Given the description of an element on the screen output the (x, y) to click on. 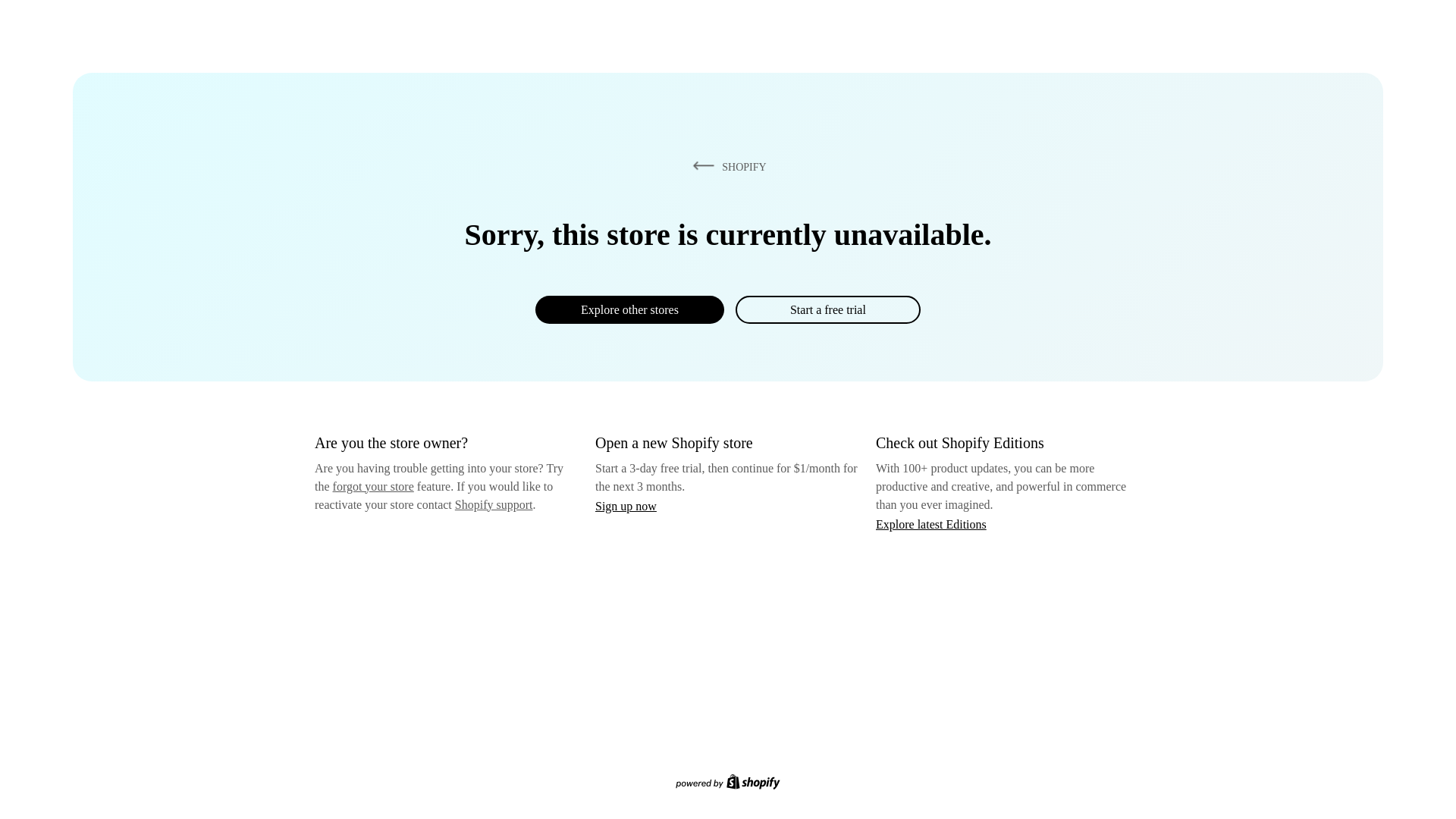
SHOPIFY (726, 166)
Shopify support (493, 504)
forgot your store (373, 486)
Explore latest Editions (931, 523)
Sign up now (625, 505)
Explore other stores (629, 309)
Start a free trial (827, 309)
